Given the description of an element on the screen output the (x, y) to click on. 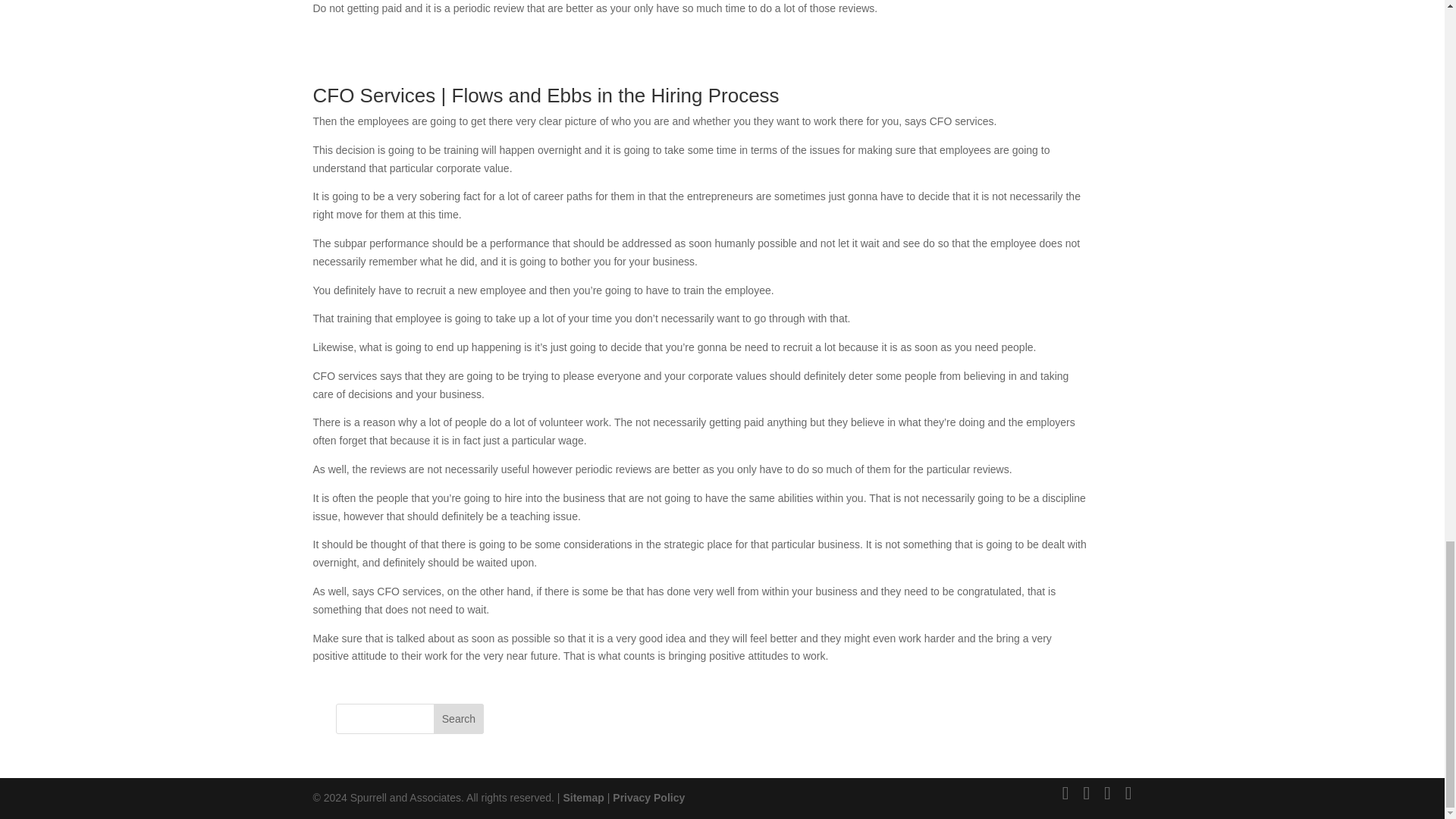
Search (458, 718)
Search (458, 718)
Sitemap (583, 797)
Privacy Policy (648, 797)
